Given the description of an element on the screen output the (x, y) to click on. 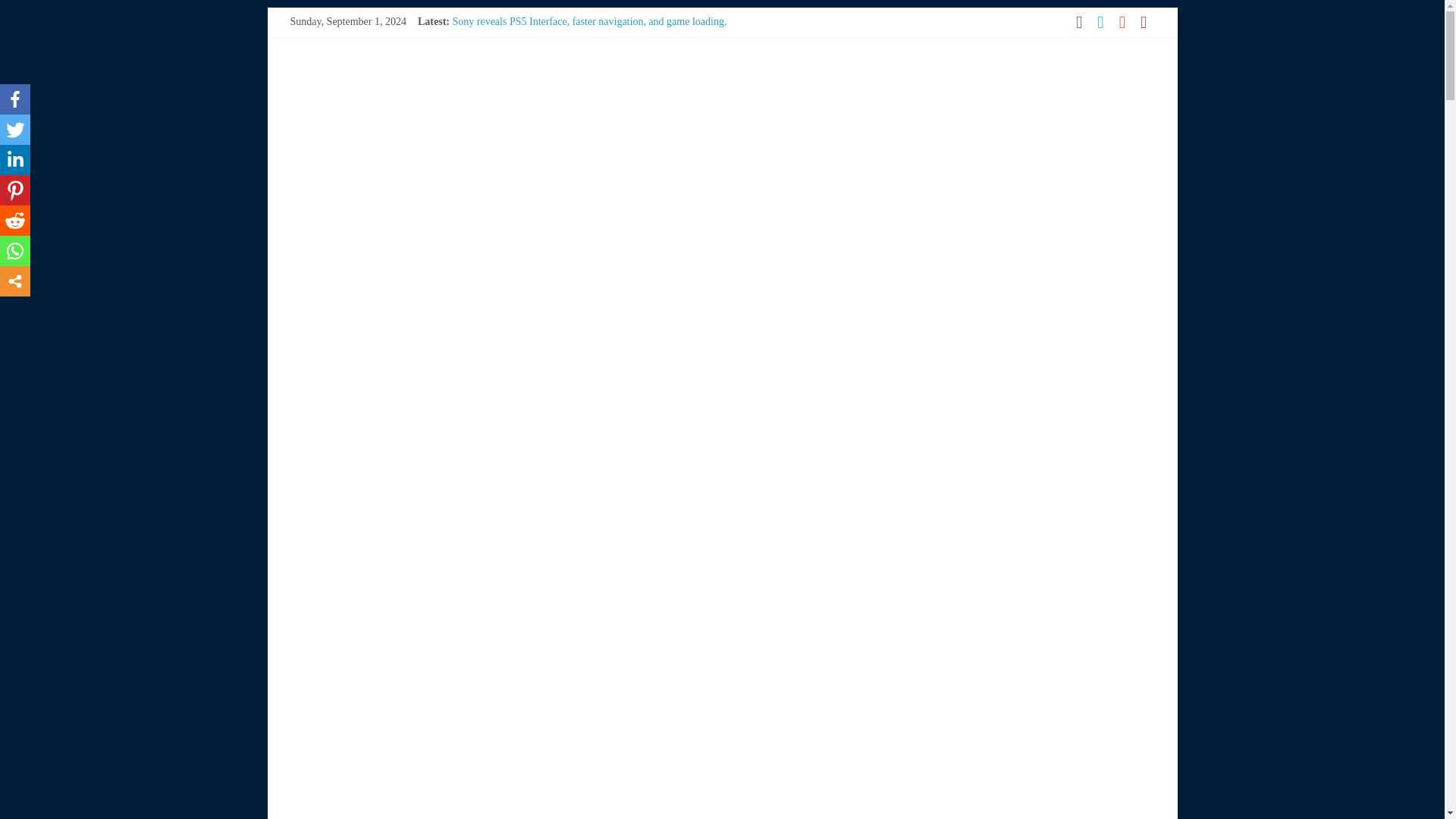
Best Gadget Insurances 2020 (513, 71)
Star Wars X adidas Originals Sneakers Collection (557, 38)
Asus Rog II- MOST POWERFUL PHONE IN THE WORLD (582, 89)
Best Gadget Insurances 2020 (513, 71)
Asus Rog II- MOST POWERFUL PHONE IN THE WORLD (582, 89)
5 Home Office Essentials to get this 2020 (539, 55)
5 Home Office Essentials to get this 2020 (539, 55)
